Given the description of an element on the screen output the (x, y) to click on. 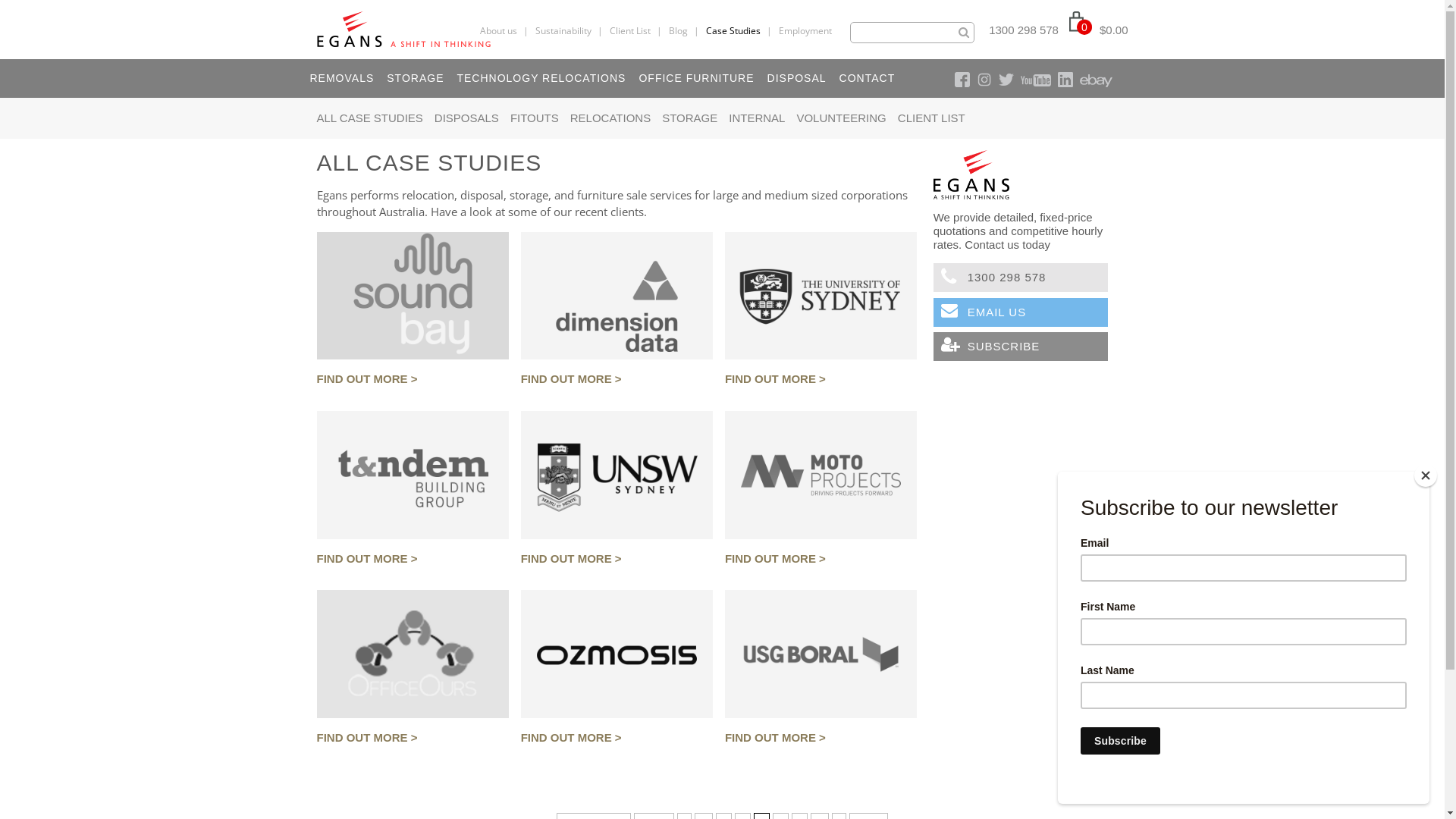
Sustainability Element type: text (563, 30)
1300 298 578 Element type: text (1023, 29)
0 Element type: text (1080, 29)
SUBSCRIBE Element type: text (1020, 346)
INTERNAL Element type: text (756, 117)
CLIENT LIST Element type: text (931, 117)
REMOVALS Element type: text (340, 78)
Youtube Element type: text (1035, 80)
$0.00 Element type: text (1113, 29)
Twitter Element type: text (1005, 79)
FIND OUT MORE > Element type: text (820, 558)
EMAIL US Element type: text (1020, 312)
STORAGE Element type: text (413, 78)
FIND OUT MORE > Element type: text (412, 379)
Instagram Element type: text (983, 79)
Case Studies Element type: text (733, 30)
TECHNOLOGY RELOCATIONS Element type: text (539, 78)
CONTACT Element type: text (865, 78)
RELOCATIONS Element type: text (610, 117)
Ebay Element type: text (1095, 80)
Employment Element type: text (804, 30)
Blog Element type: text (677, 30)
OFFICE FURNITURE Element type: text (694, 78)
FIND OUT MORE > Element type: text (616, 379)
FIND OUT MORE > Element type: text (616, 558)
DISPOSAL Element type: text (795, 78)
DISPOSALS Element type: text (466, 117)
About us Element type: text (498, 30)
STORAGE Element type: text (689, 117)
FIND OUT MORE > Element type: text (412, 558)
Facebook Element type: text (961, 79)
FITOUTS Element type: text (534, 117)
FIND OUT MORE > Element type: text (820, 737)
LinkedIn Element type: text (1064, 79)
FIND OUT MORE > Element type: text (820, 379)
VOLUNTEERING Element type: text (840, 117)
FIND OUT MORE > Element type: text (412, 737)
Client List Element type: text (629, 30)
FIND OUT MORE > Element type: text (616, 737)
ALL CASE STUDIES Element type: text (369, 117)
Search for: Element type: hover (912, 31)
